Given the description of an element on the screen output the (x, y) to click on. 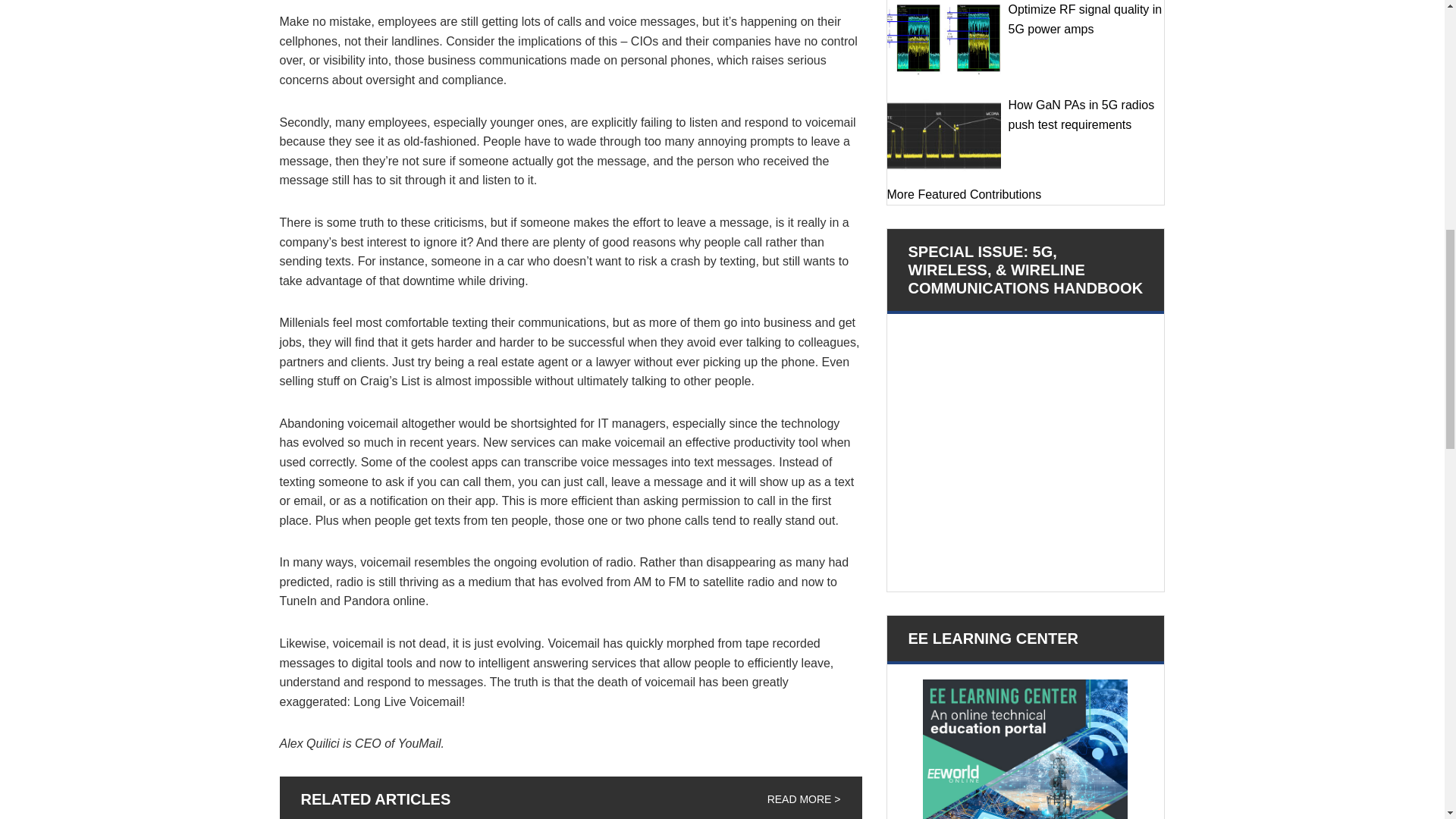
Optimize RF signal quality in 5G power amps (943, 40)
How GaN PAs in 5G radios push test requirements (943, 135)
